Given the description of an element on the screen output the (x, y) to click on. 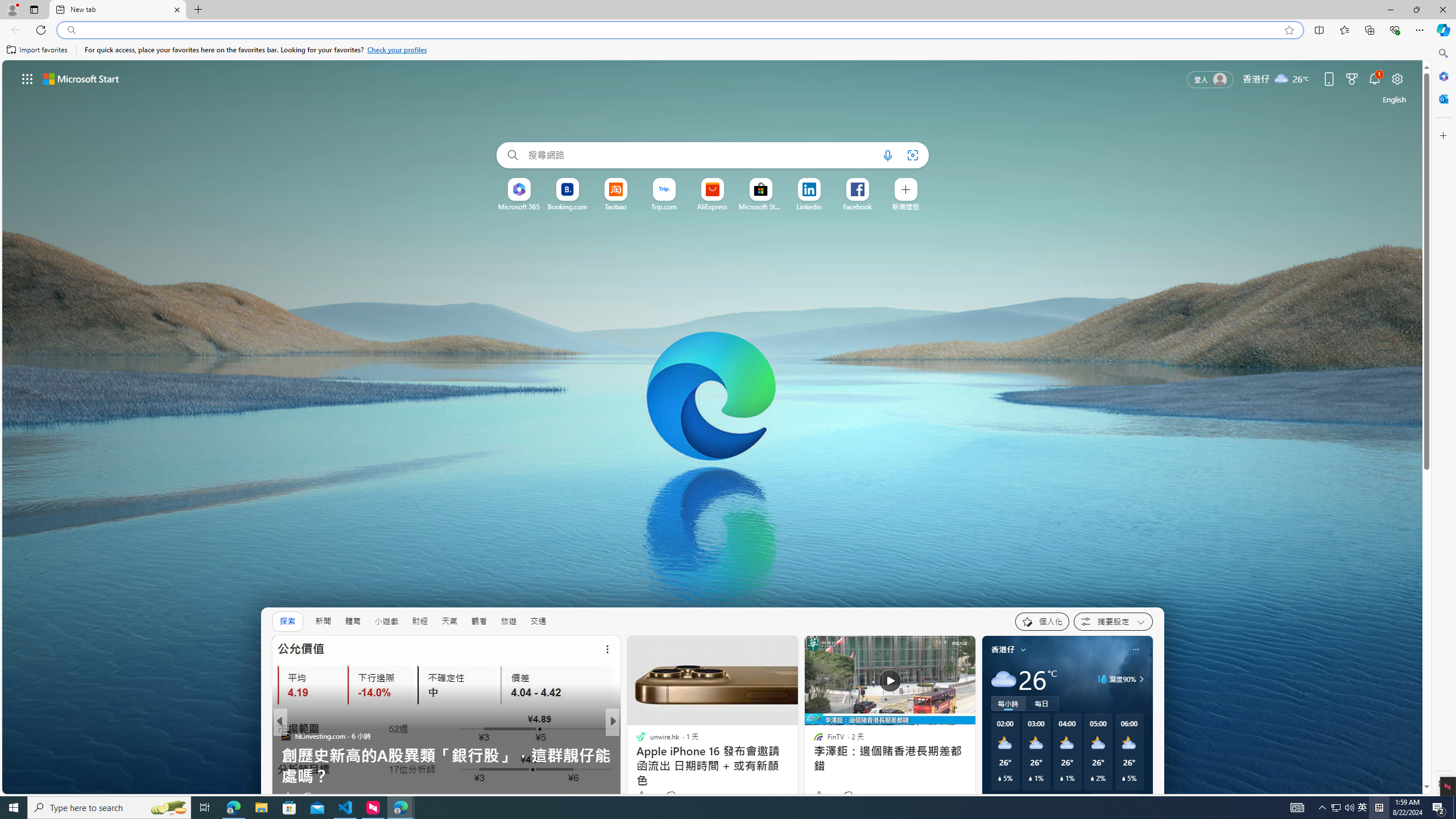
Class: weather-current-precipitation-glyph (1123, 778)
ELLE HK (635, 735)
Side bar (1443, 418)
AFP (635, 755)
